Given the description of an element on the screen output the (x, y) to click on. 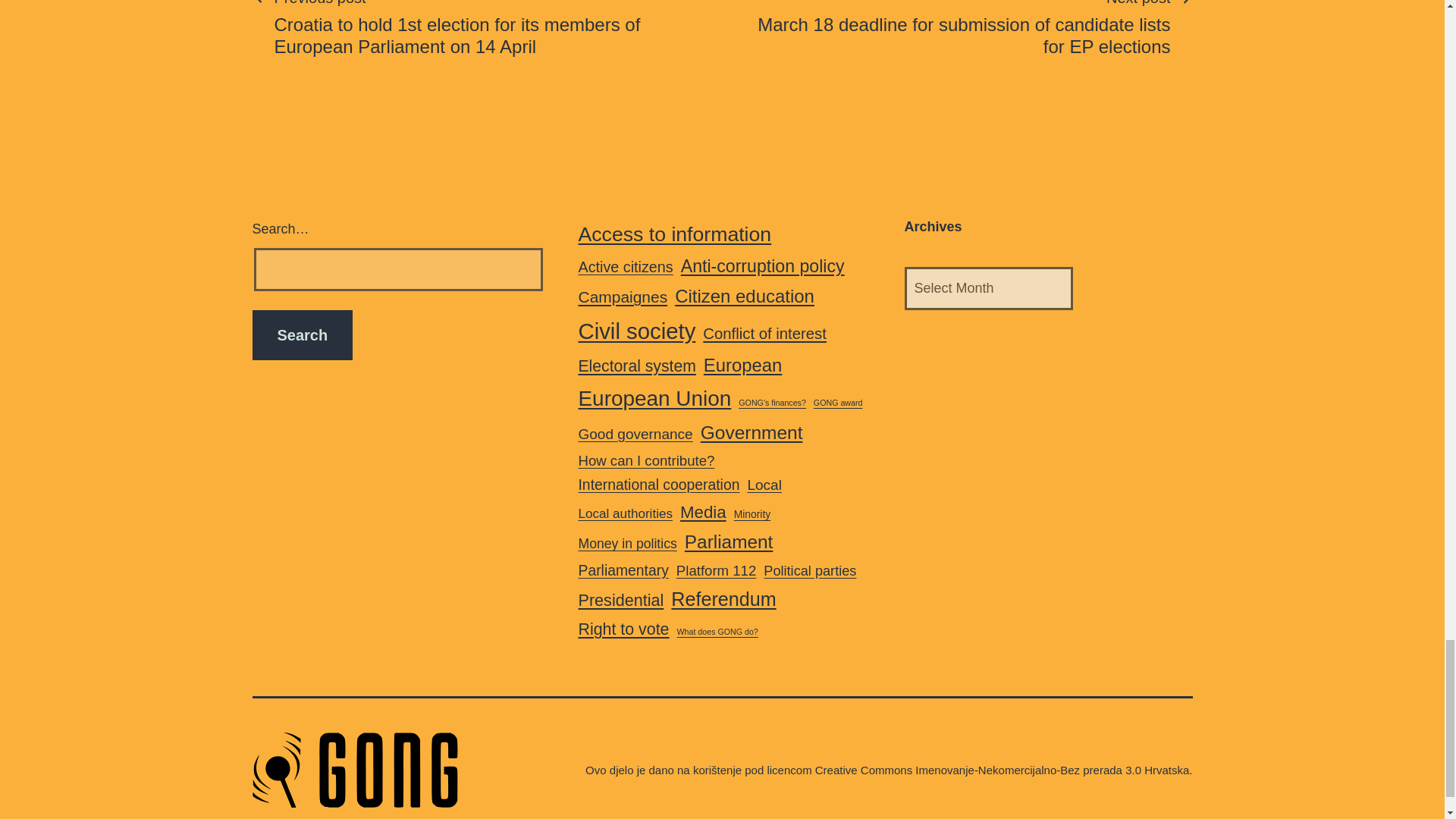
European (742, 365)
International cooperation (658, 484)
Good governance (635, 434)
European Union (654, 398)
Local (763, 485)
Electoral system (636, 366)
Access to information (674, 234)
Local authorities (624, 513)
Search (301, 335)
Anti-corruption policy (762, 266)
